Given the description of an element on the screen output the (x, y) to click on. 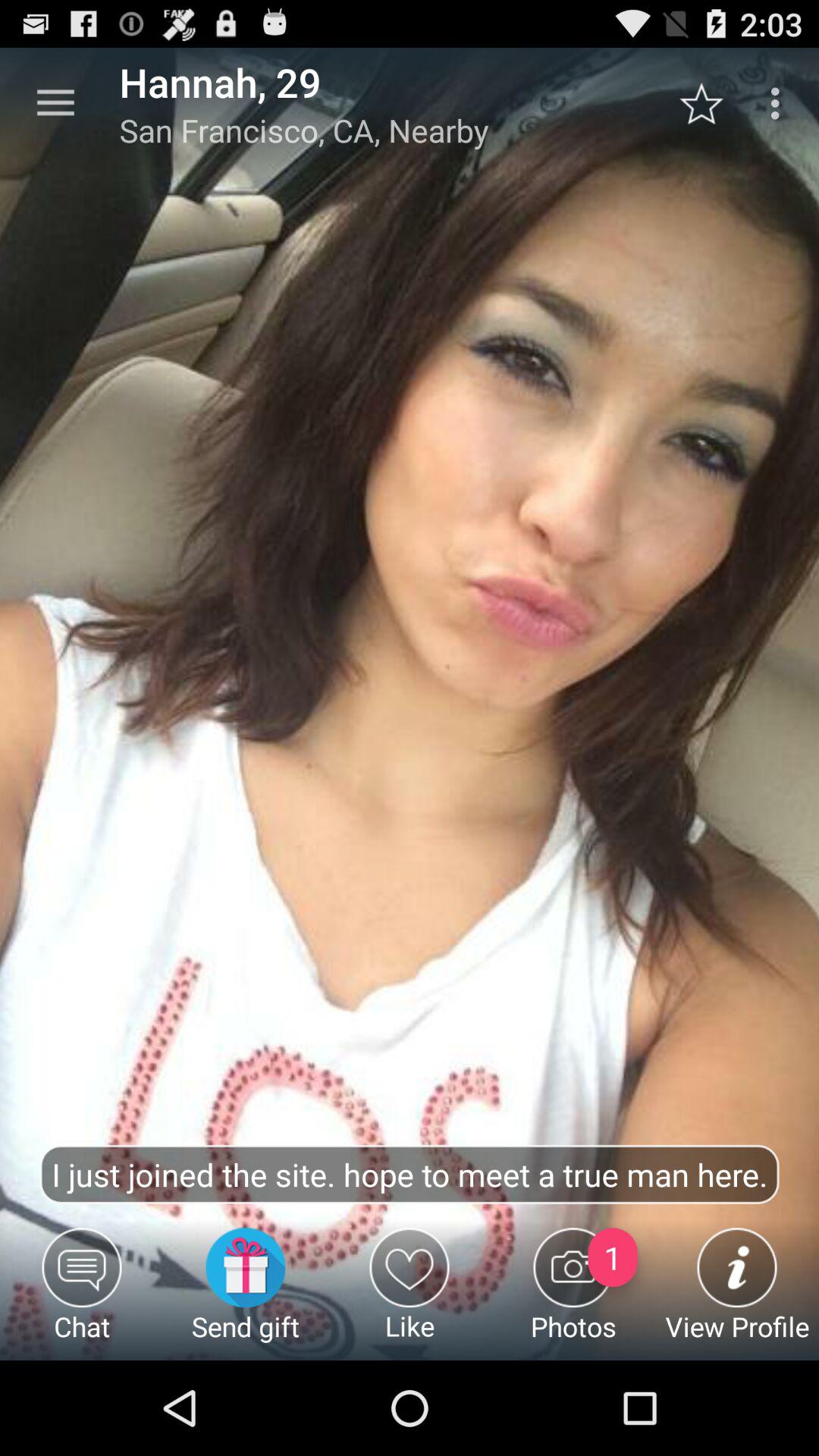
turn on chat item (81, 1293)
